Given the description of an element on the screen output the (x, y) to click on. 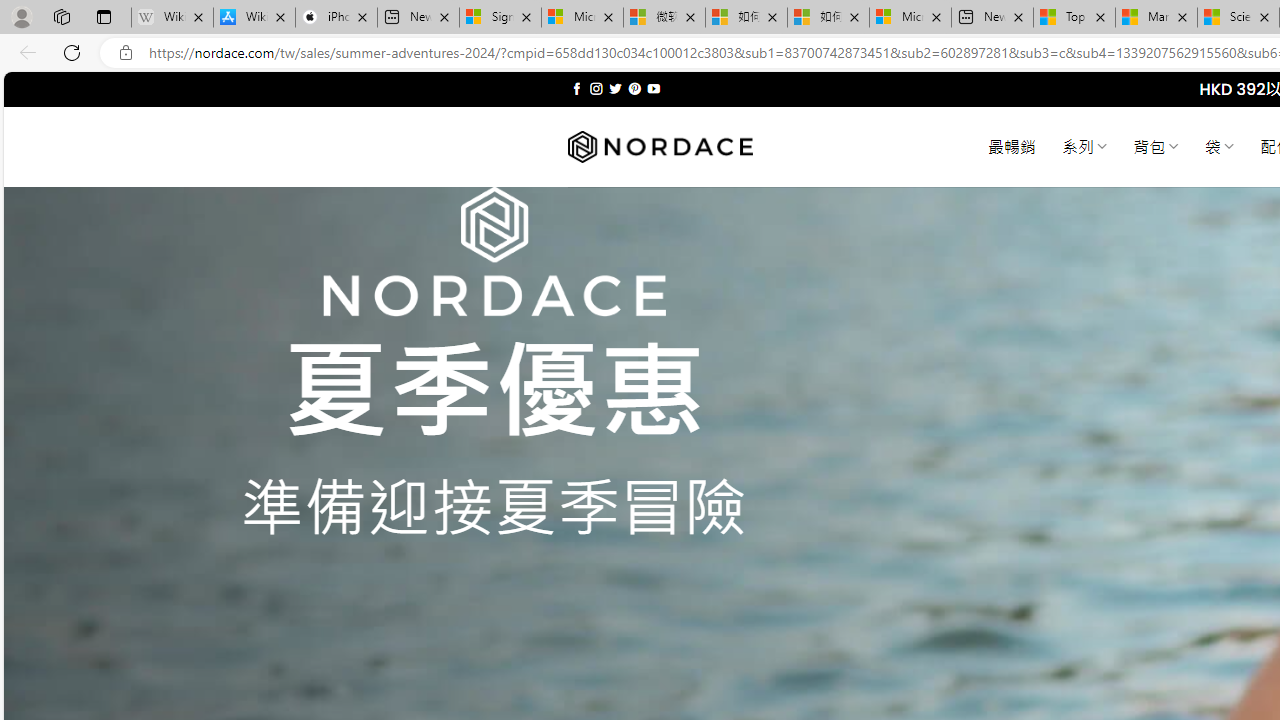
Follow on Facebook (576, 88)
Follow on Pinterest (634, 88)
iPhone - Apple (336, 17)
Follow on YouTube (653, 88)
